Given the description of an element on the screen output the (x, y) to click on. 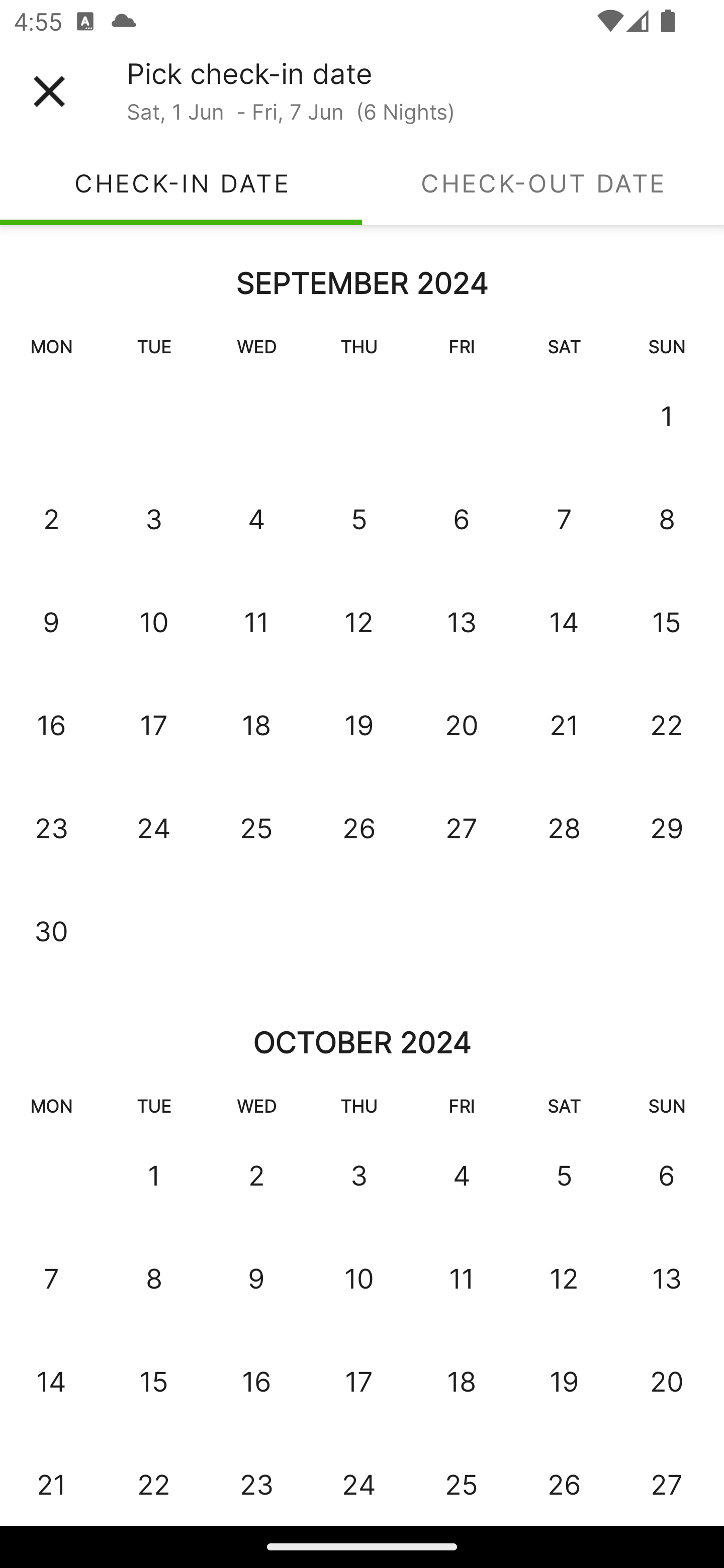
Check-out Date CHECK-OUT DATE (543, 183)
